Given the description of an element on the screen output the (x, y) to click on. 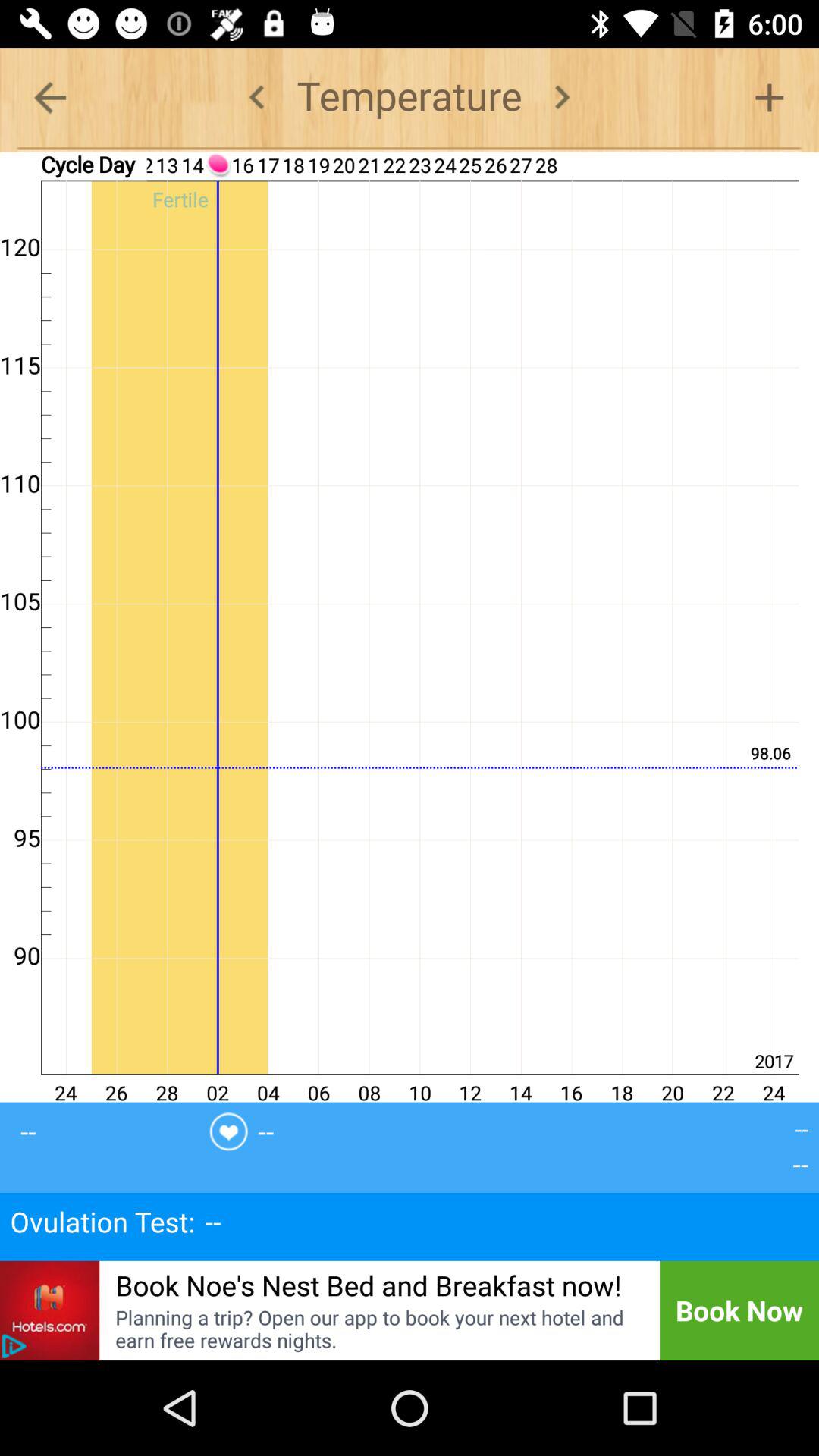
add new data (769, 97)
